Given the description of an element on the screen output the (x, y) to click on. 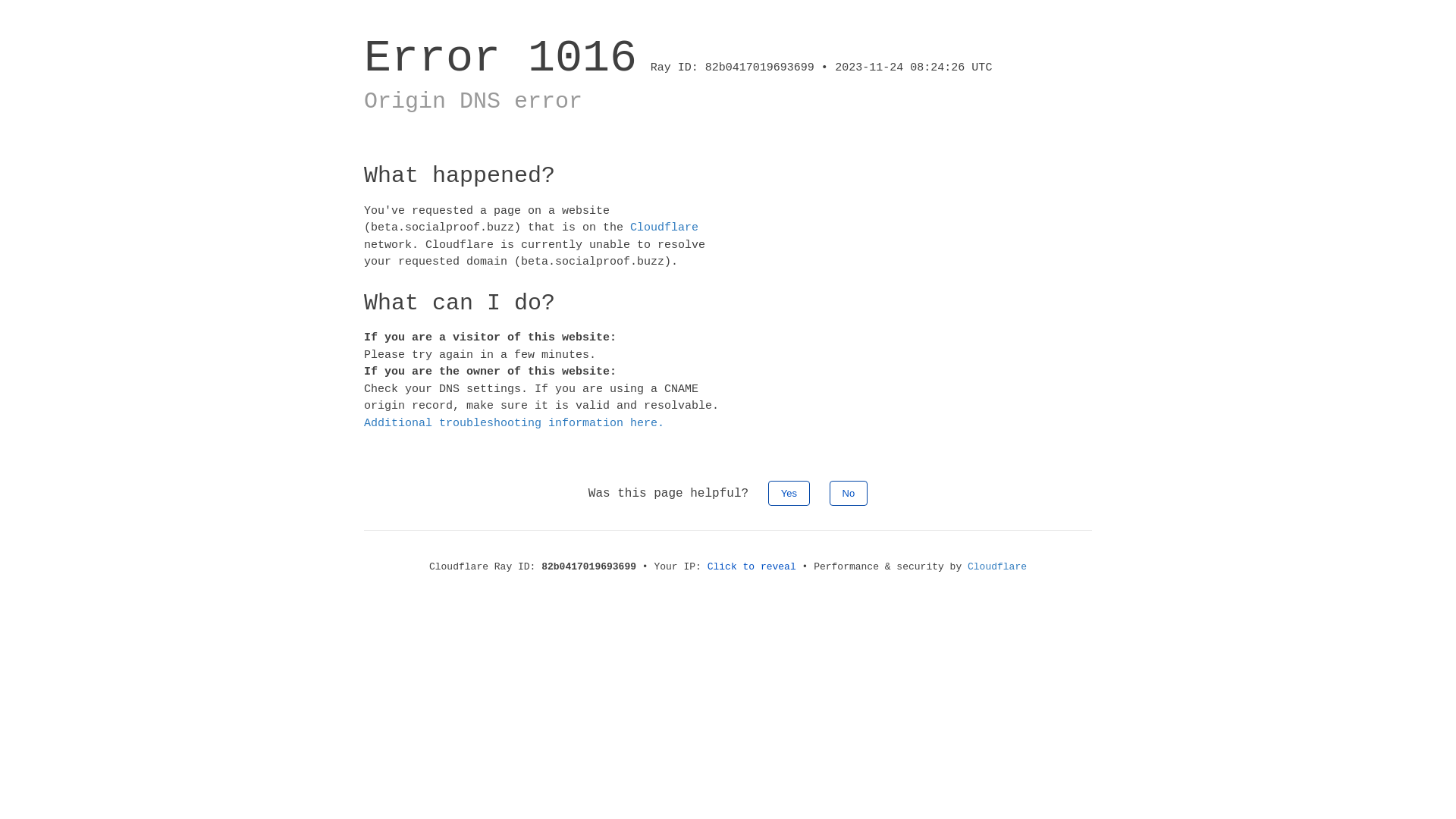
Cloudflare Element type: text (996, 566)
Cloudflare Element type: text (664, 227)
Click to reveal Element type: text (751, 566)
Yes Element type: text (788, 492)
Additional troubleshooting information here. Element type: text (514, 423)
No Element type: text (848, 492)
